Given the description of an element on the screen output the (x, y) to click on. 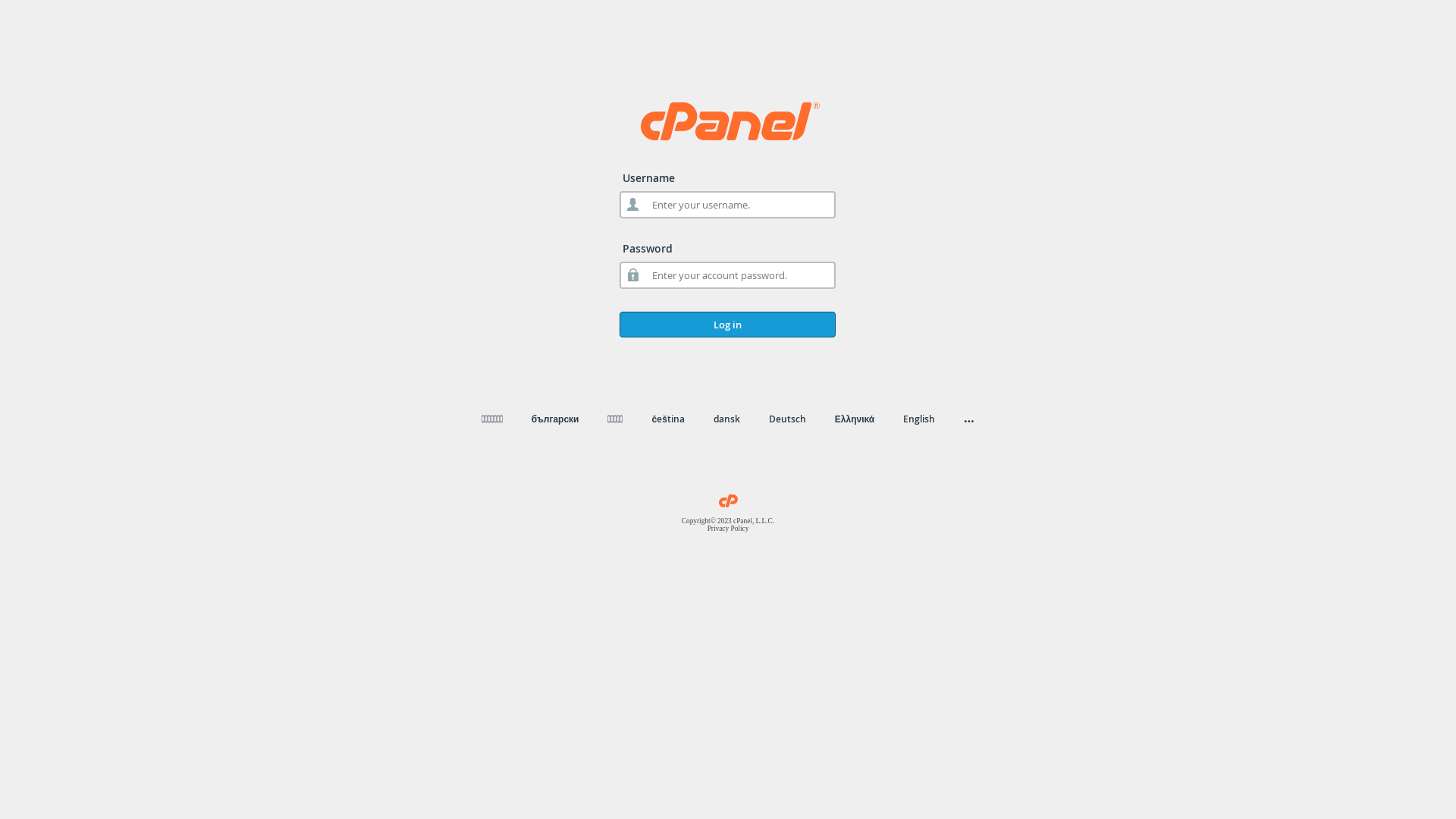
Deutsch Element type: text (787, 418)
Log in Element type: text (727, 324)
Privacy Policy Element type: text (728, 528)
dansk Element type: text (726, 418)
English Element type: text (919, 418)
